Given the description of an element on the screen output the (x, y) to click on. 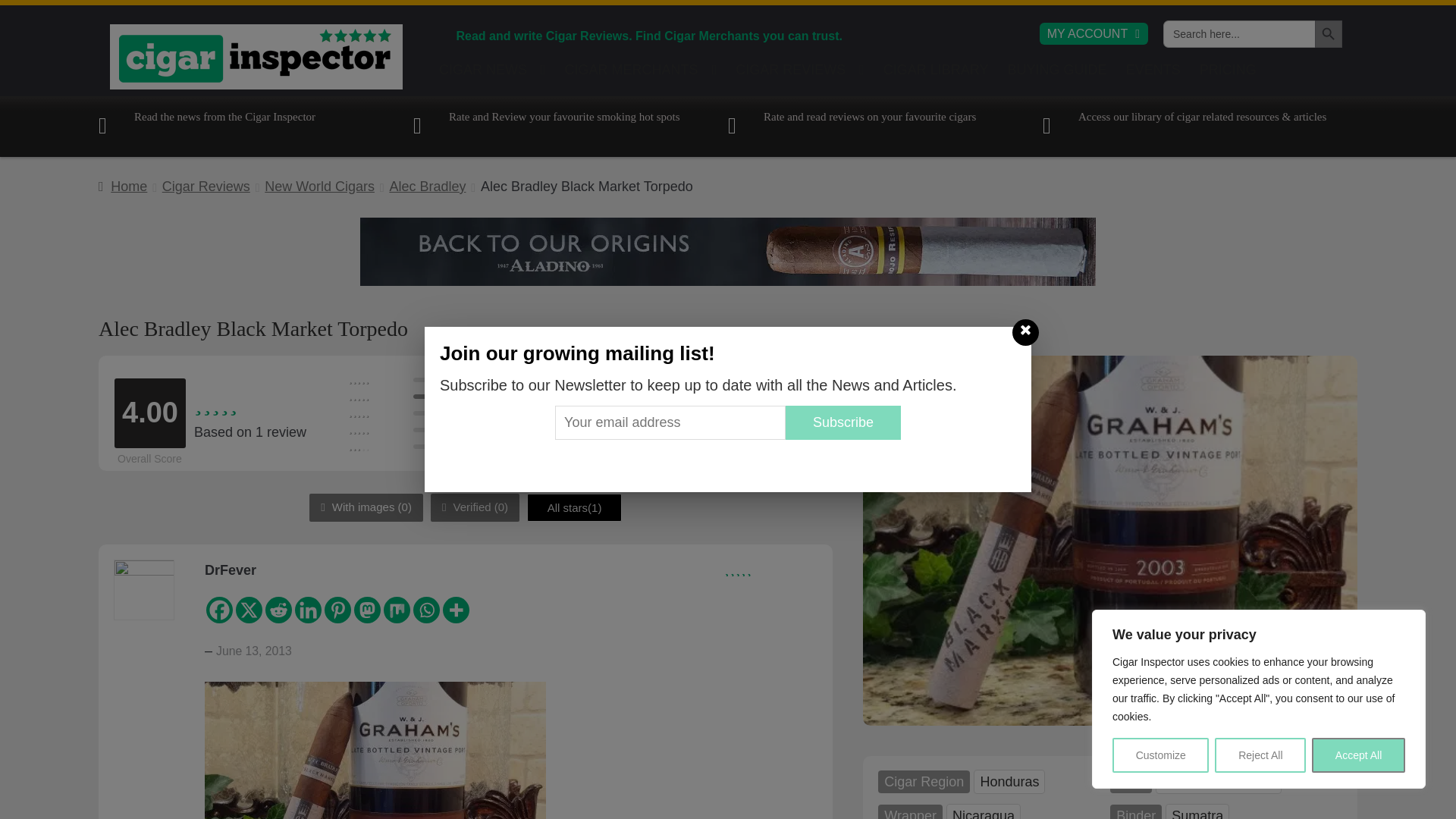
Whatsapp (426, 610)
Reject All (1260, 755)
Pinterest (337, 610)
MY ACCOUNT (1093, 33)
CIGAR MERCHANTS (641, 73)
CIGAR REVIEWS (800, 73)
Linkedin (308, 610)
CIGAR LIBRARY (935, 73)
CIGAR NEWS (491, 73)
X (248, 610)
Reddit (278, 610)
BUYING GUIDE (1057, 73)
Customize (1160, 755)
Mastodon (366, 610)
More (455, 610)
